Given the description of an element on the screen output the (x, y) to click on. 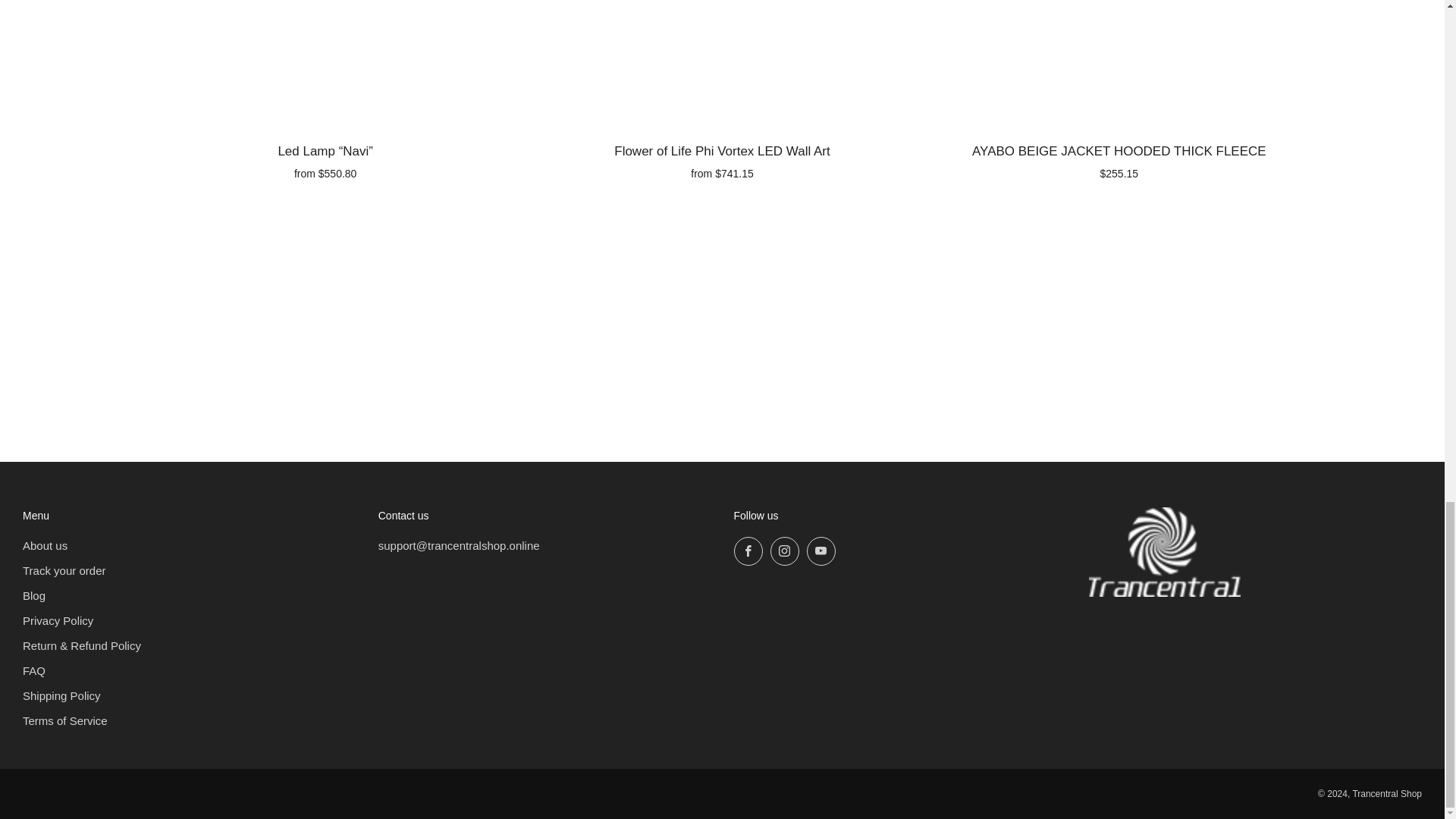
AYABO BEIGE JACKET HOODED THICK FLEECE (1118, 159)
Flower of Life Phi Vortex LED Wall Art (721, 159)
